Given the description of an element on the screen output the (x, y) to click on. 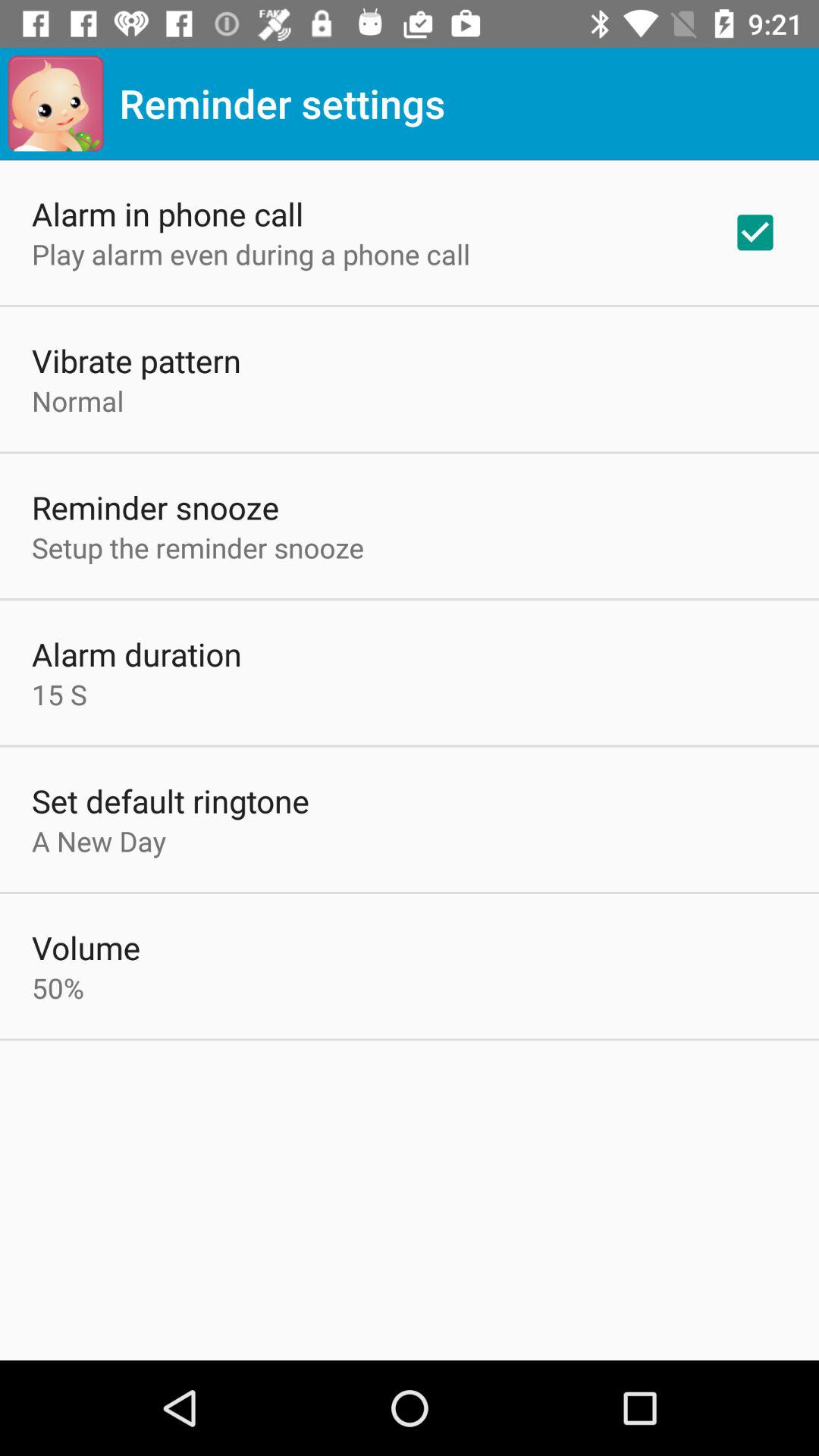
turn off the normal icon (77, 400)
